Given the description of an element on the screen output the (x, y) to click on. 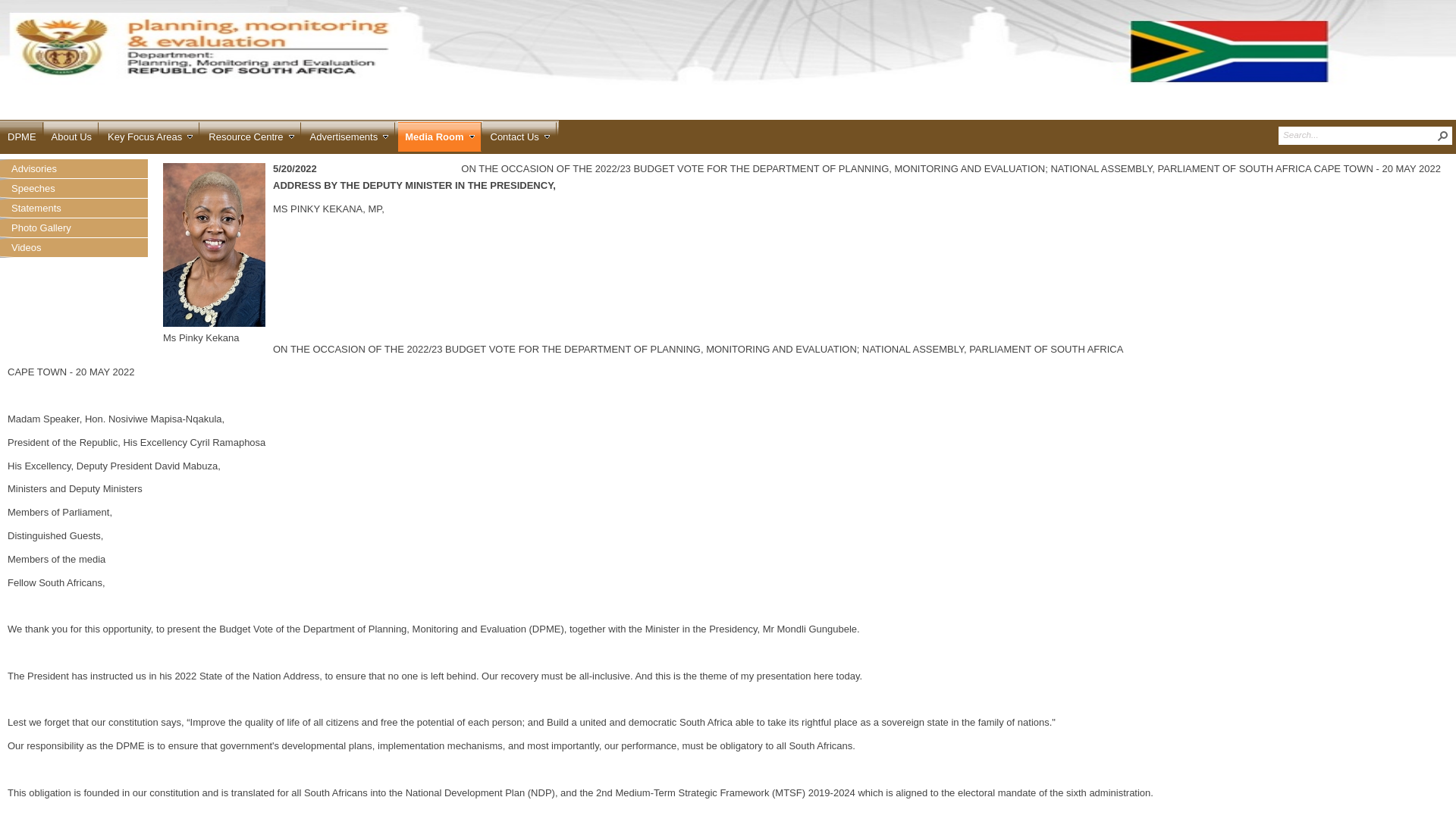
Search (1442, 135)
Search... (1358, 133)
Resource Centre (250, 132)
About Us (72, 132)
Search... (1358, 133)
DPME (22, 132)
Key Focus Areas (149, 132)
Home (22, 132)
